Given the description of an element on the screen output the (x, y) to click on. 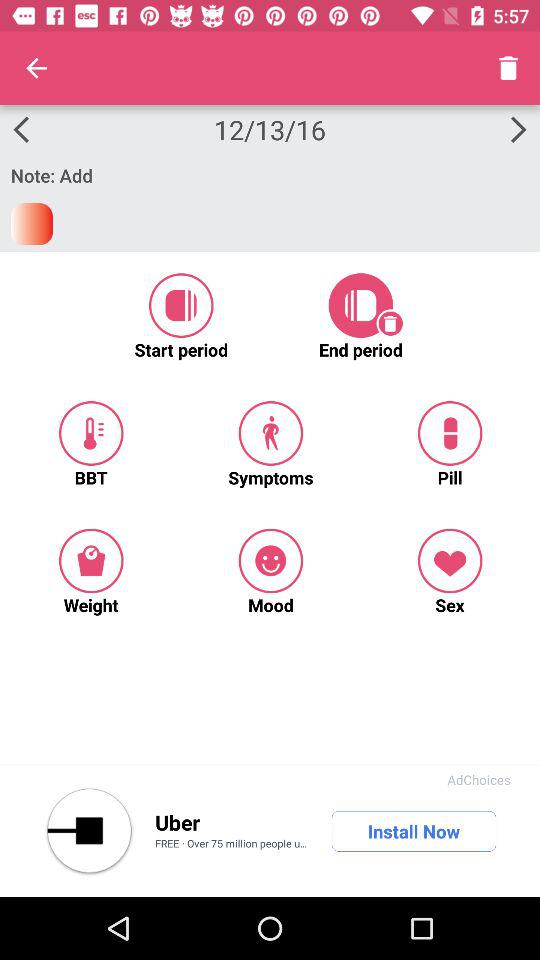
launch the item next to uber item (89, 831)
